Given the description of an element on the screen output the (x, y) to click on. 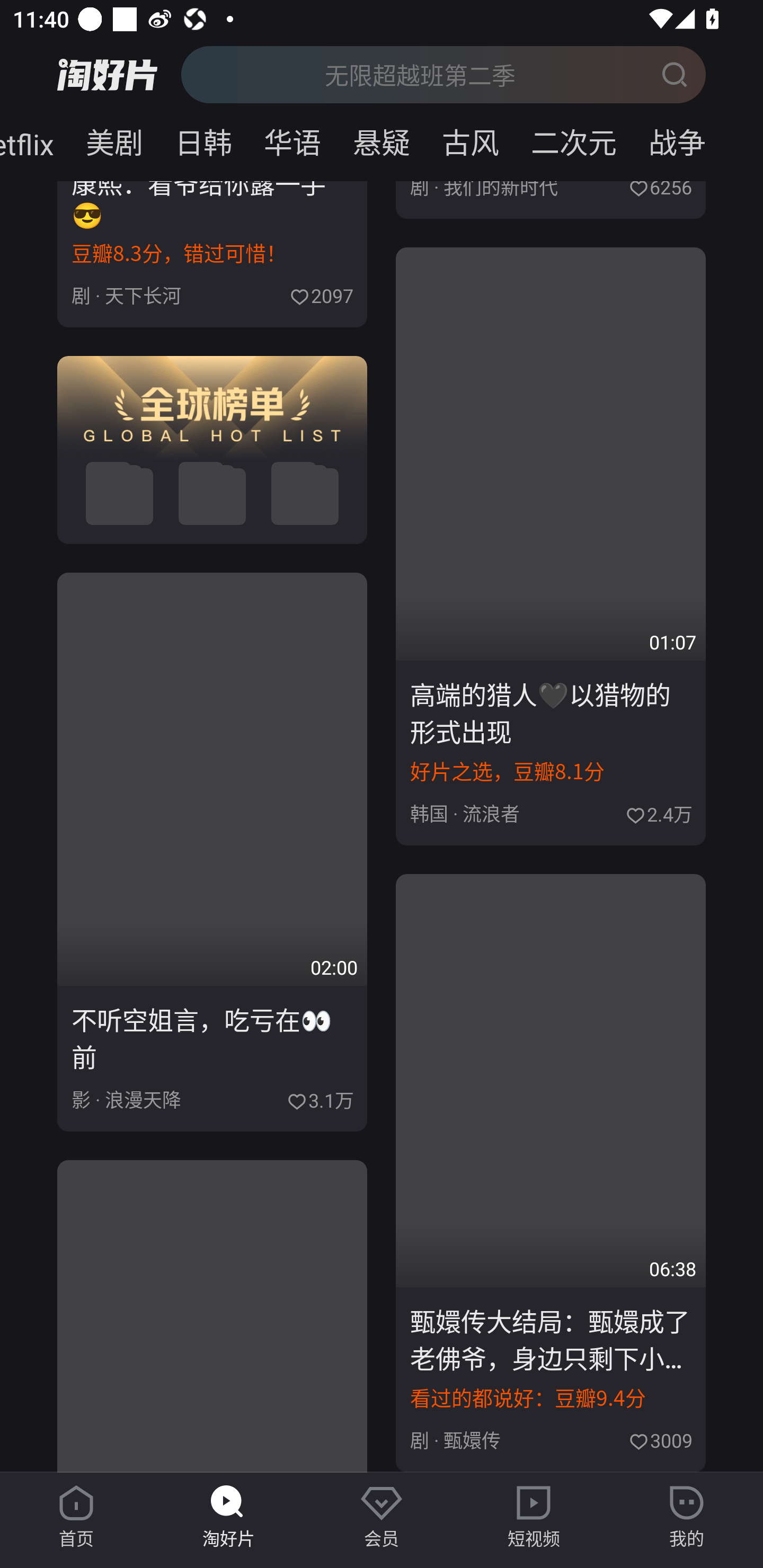
搜索框，无限超越班第二季 无限超越班第二季  (443, 74)
美剧 (114, 139)
日韩 (202, 139)
华语 (292, 139)
悬疑 (381, 139)
古风 (470, 139)
二次元 (573, 139)
战争 (697, 139)
 6256 (659, 190)
01:07 高端的猎人🖤以猎物的形式出现 好片之选，豆瓣8.1分 韩国 · 流浪者  2.4万 (550, 546)
 2097 (320, 293)
02:00 不听空姐言，吃亏在👀前 影 · 浪漫天降  3.1万 (212, 852)
 2.4万 (657, 812)
 3.1万 (319, 1097)
 3009 (659, 1438)
首页 (76, 1516)
淘好片 (228, 1516)
会员 (381, 1516)
短视频 (533, 1516)
我的 (686, 1516)
